Given the description of an element on the screen output the (x, y) to click on. 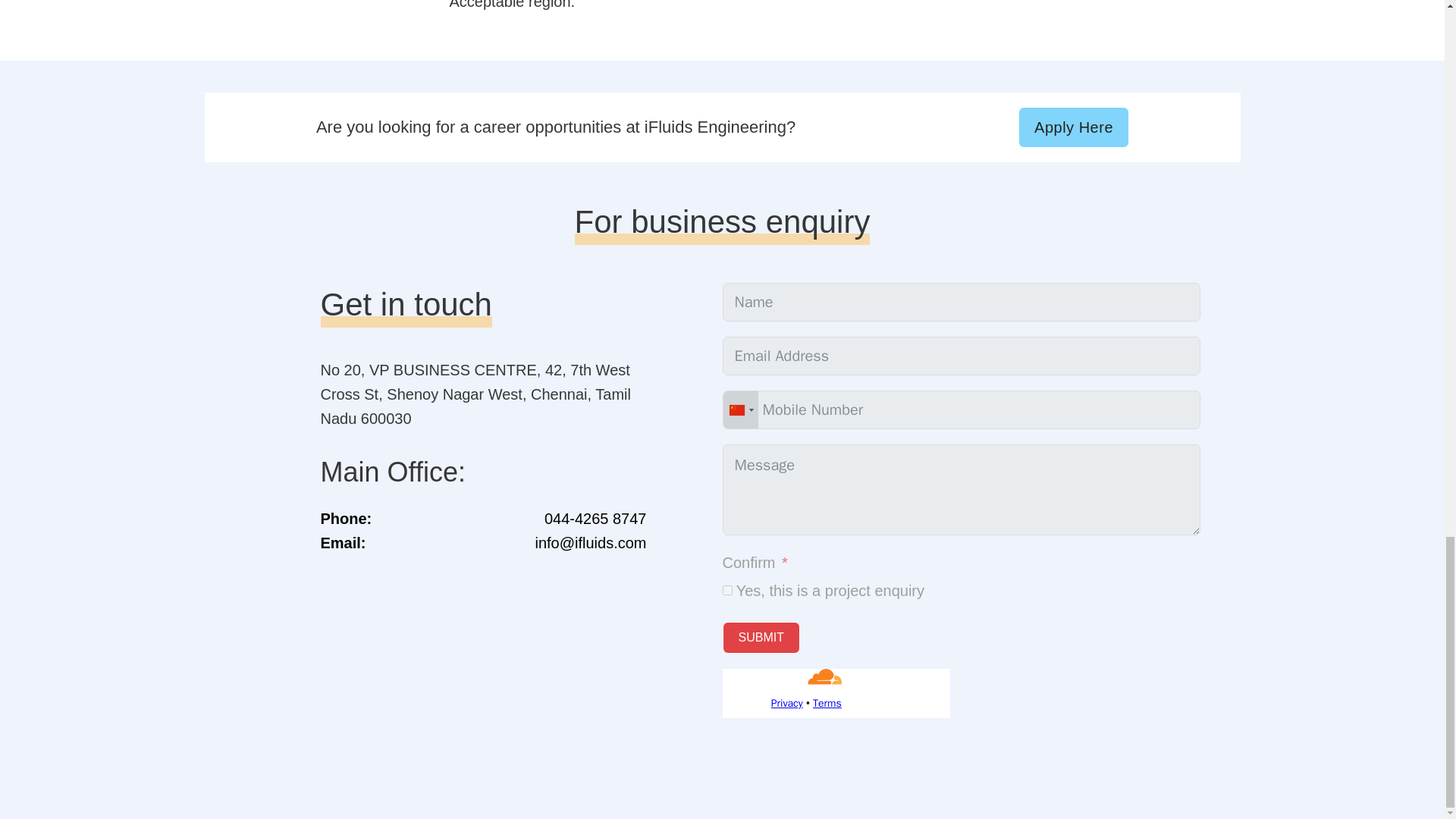
Apply Here (1073, 127)
SUBMIT (760, 637)
Yes, this is a project enquiry (727, 590)
